Given the description of an element on the screen output the (x, y) to click on. 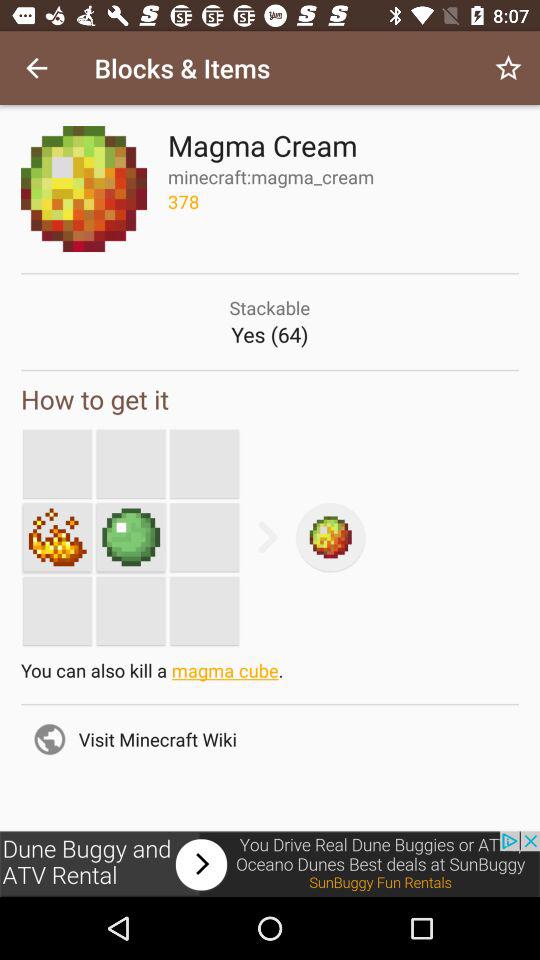
open the item to the left of the blocks & items item (36, 68)
